Given the description of an element on the screen output the (x, y) to click on. 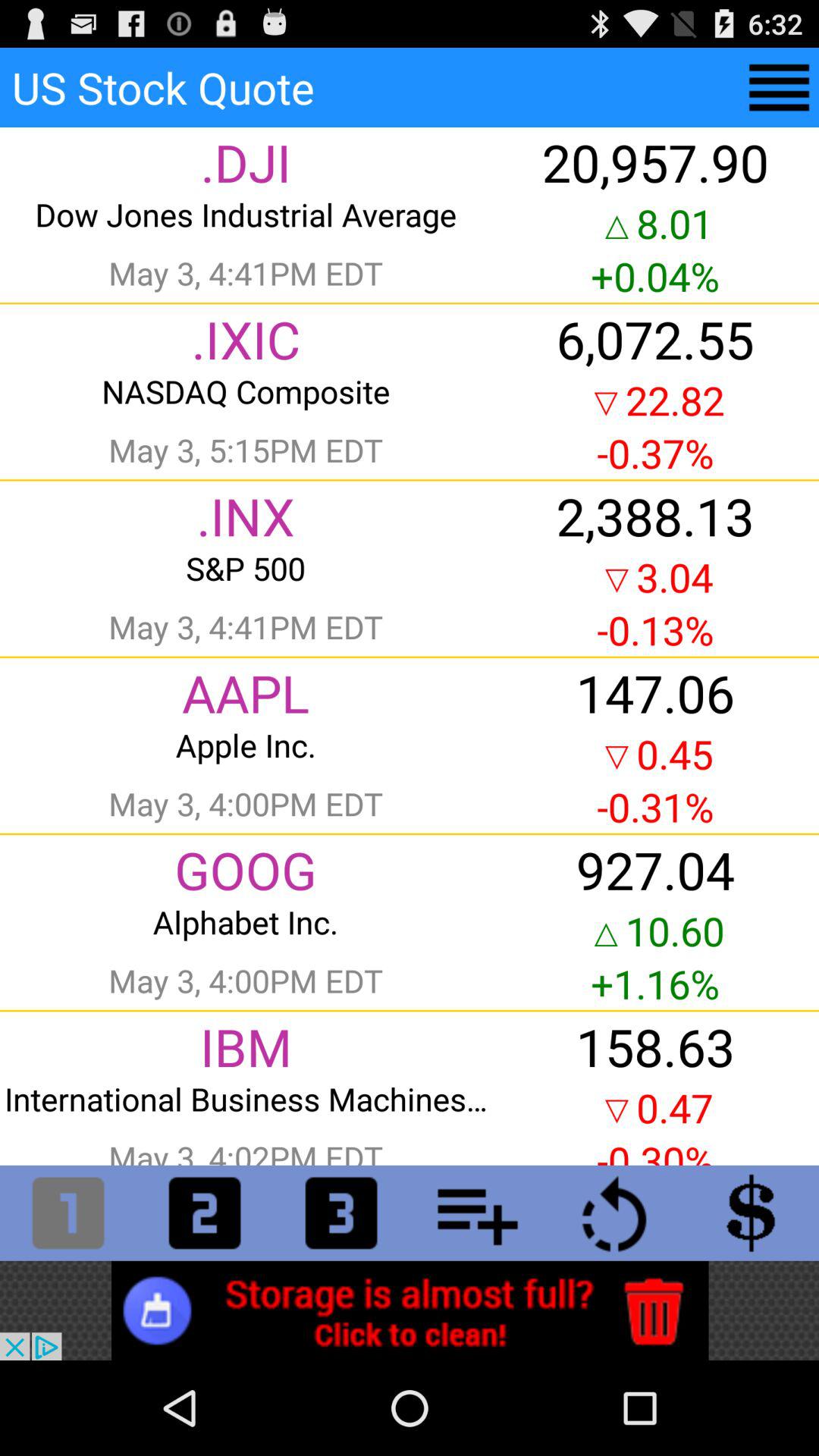
quote (779, 87)
